Given the description of an element on the screen output the (x, y) to click on. 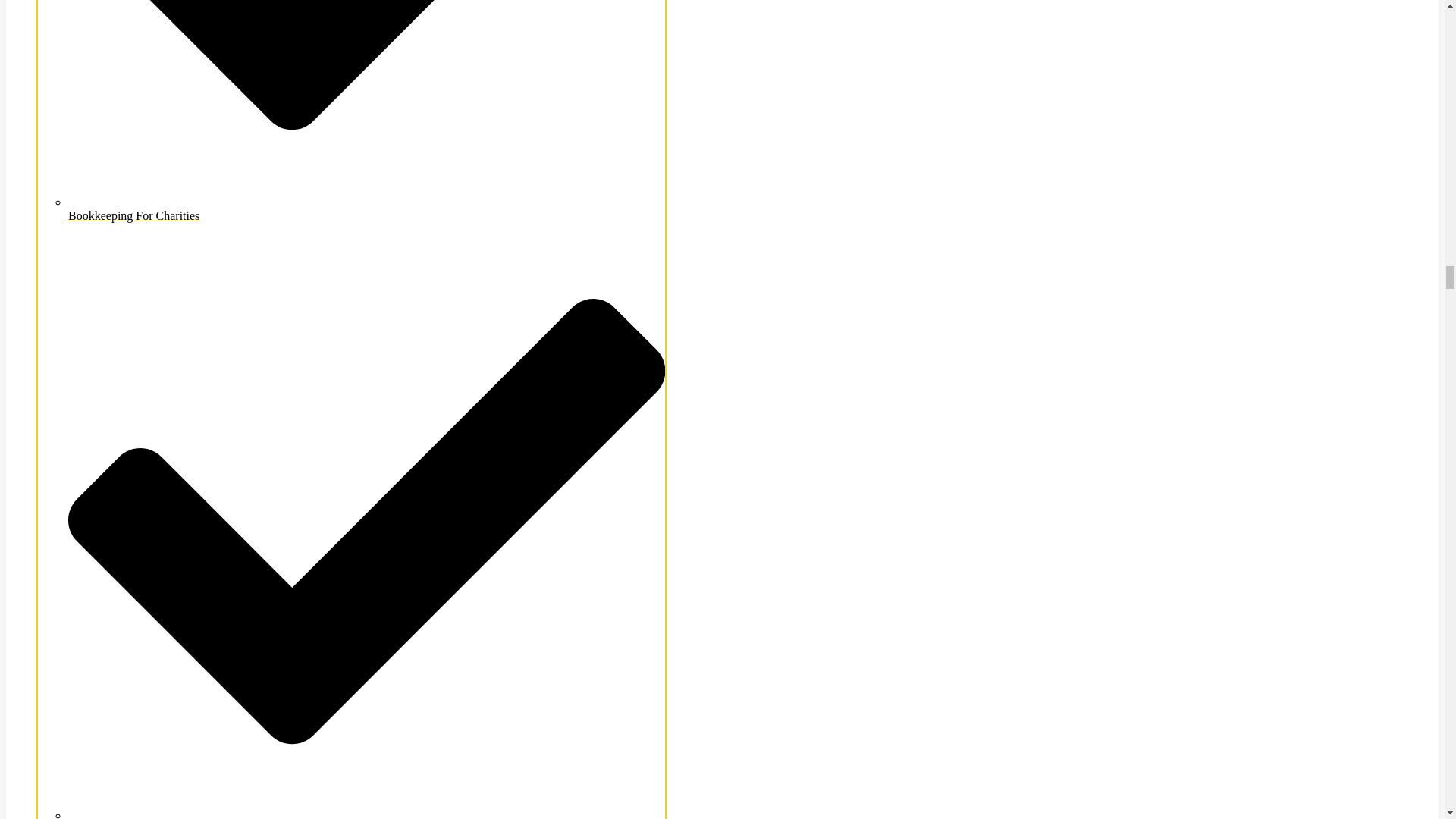
Bookkeeping For Charities (366, 208)
Bookkeeping For Dentists (366, 814)
